Given the description of an element on the screen output the (x, y) to click on. 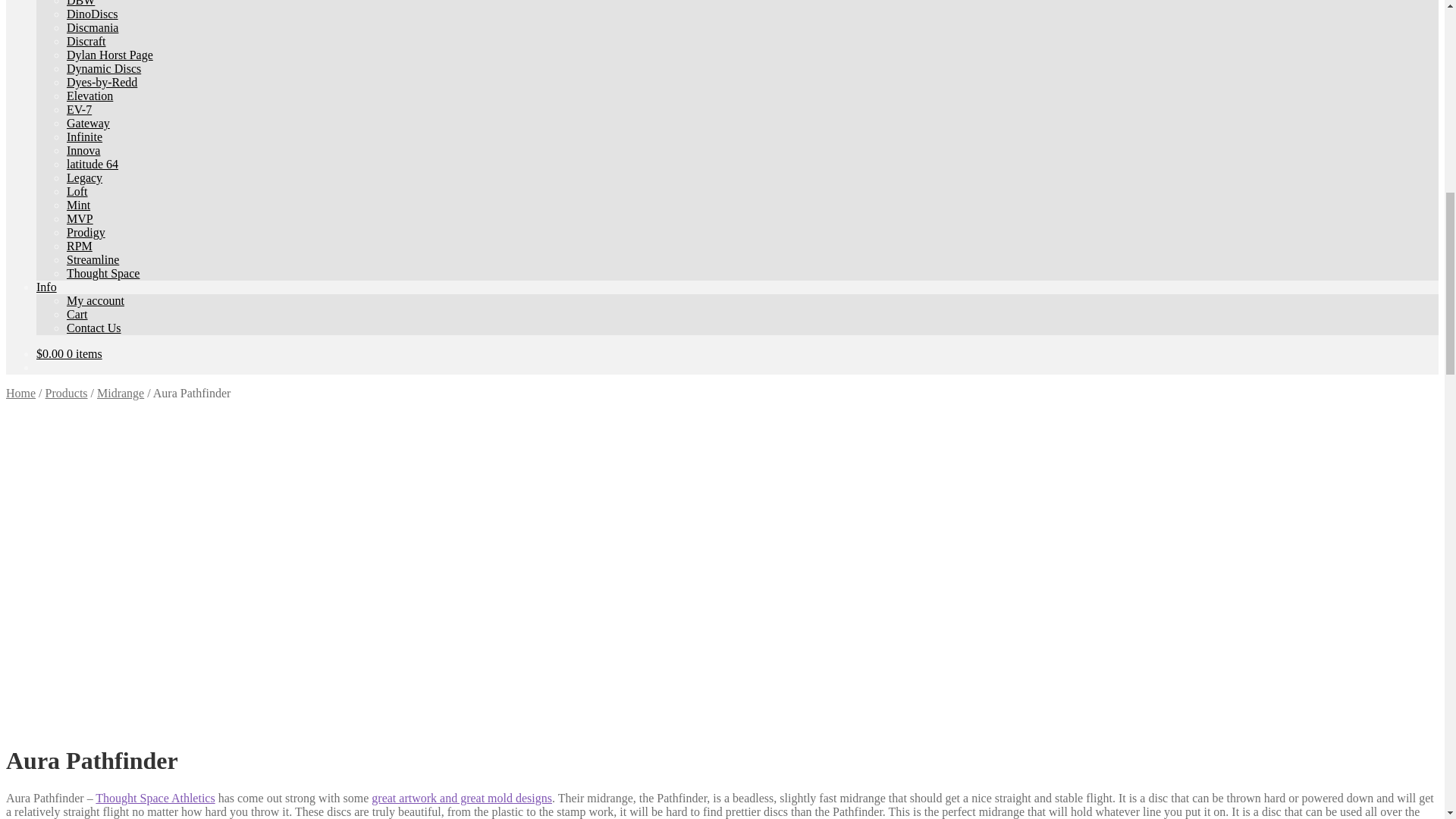
View your shopping cart (68, 353)
